Given the description of an element on the screen output the (x, y) to click on. 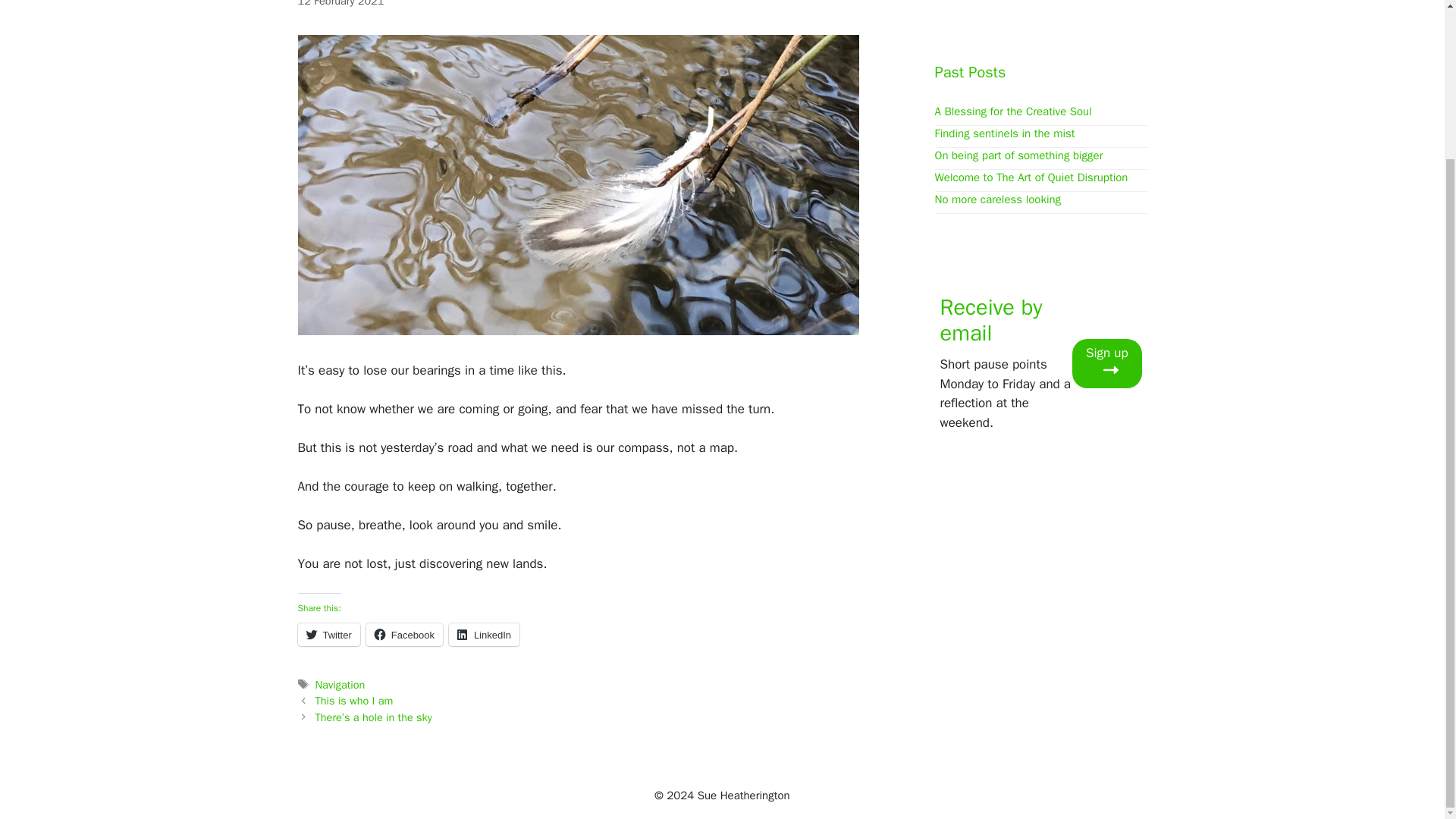
Navigation (340, 684)
Facebook (404, 634)
Click to share on Twitter (328, 634)
Finding sentinels in the mist (1004, 133)
Welcome to The Art of Quiet Disruption (1030, 177)
Twitter (328, 634)
LinkedIn (483, 634)
Sign up (1106, 363)
This is who I am (354, 700)
Click to share on LinkedIn (483, 634)
